Given the description of an element on the screen output the (x, y) to click on. 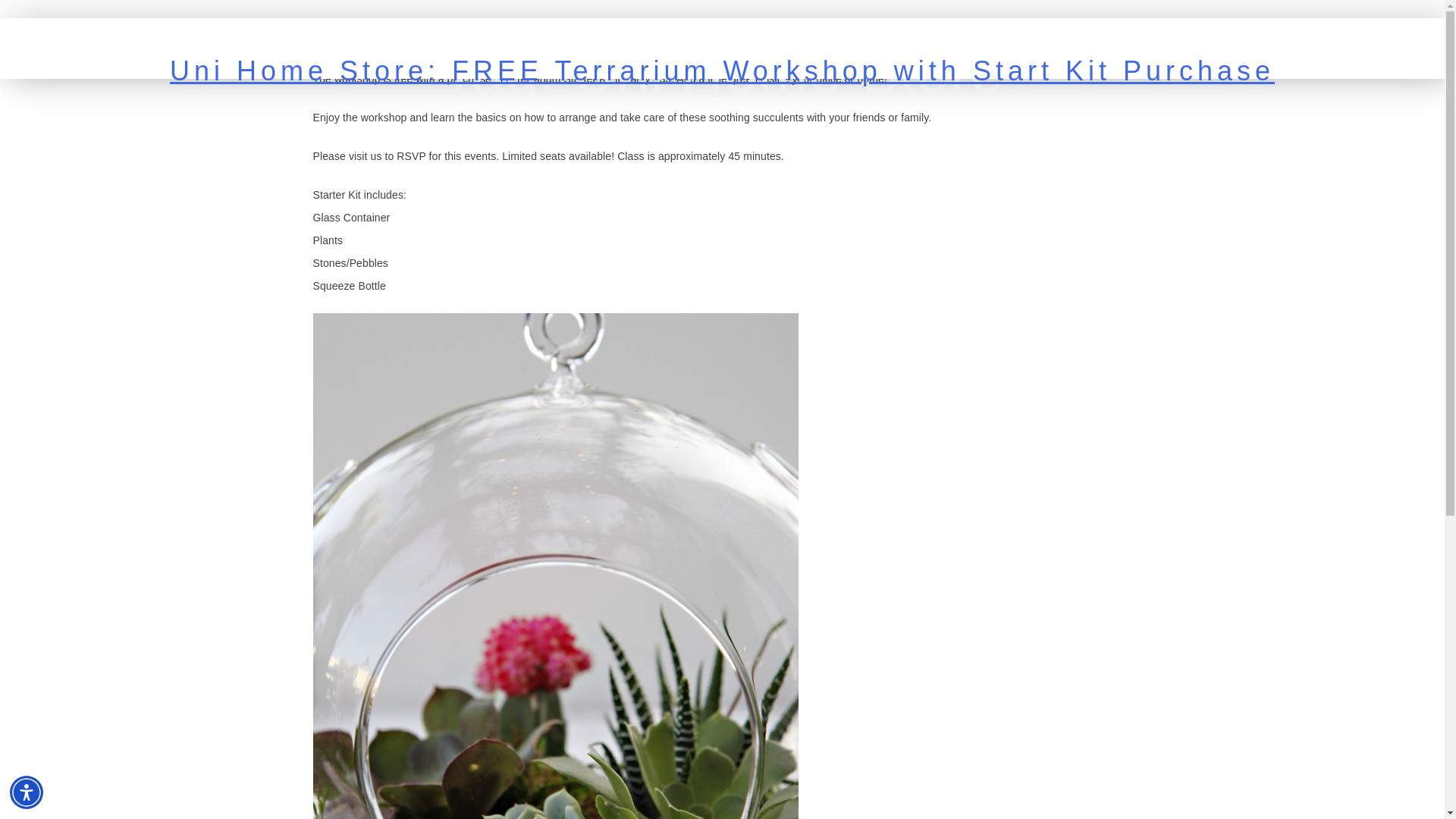
Accessibility Menu (26, 792)
EVENTS (1179, 30)
CONTACT (1388, 30)
DESIGN (1121, 30)
DISCOVER (1056, 30)
